Given the description of an element on the screen output the (x, y) to click on. 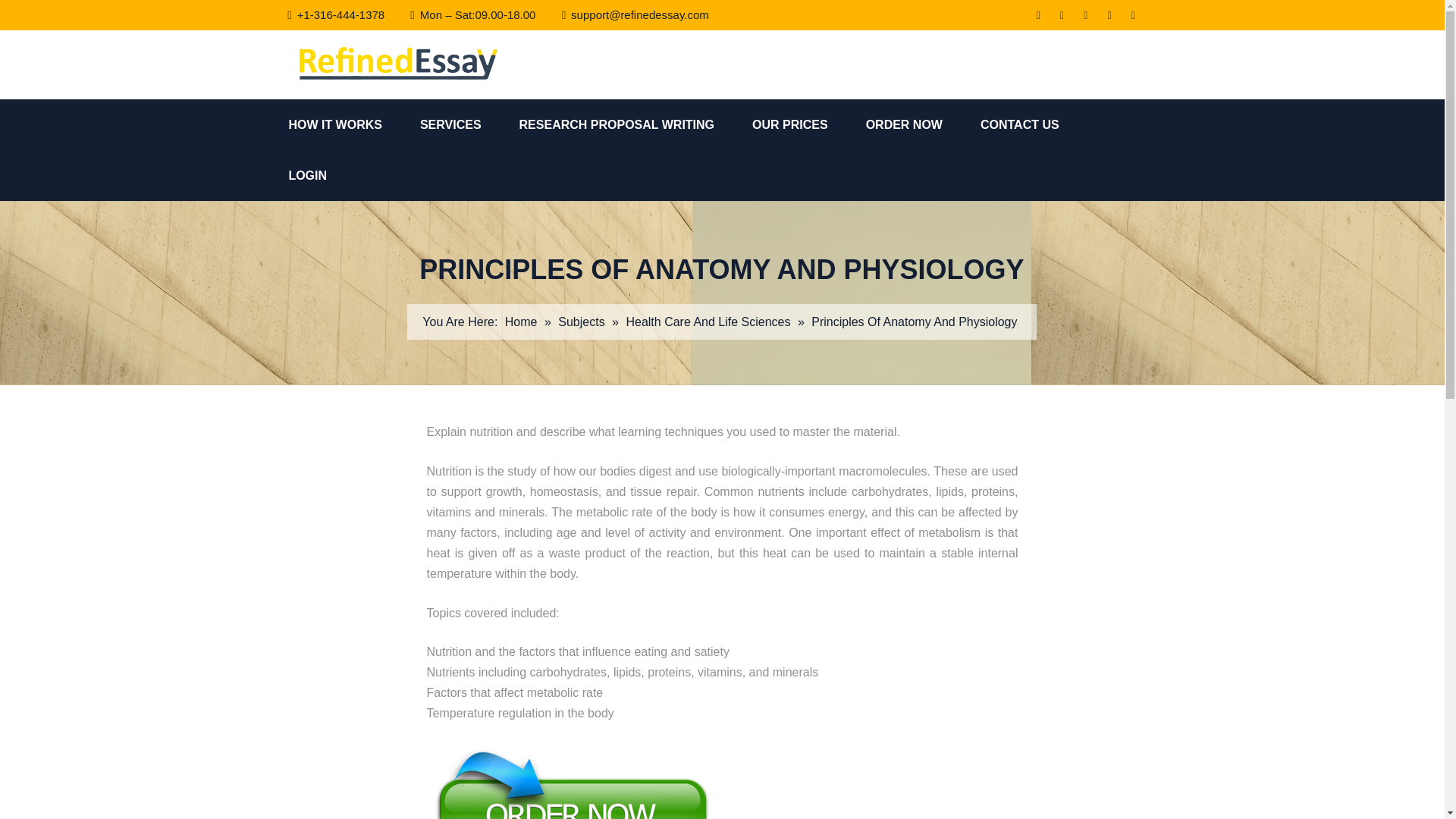
ORDER NOW (922, 124)
CONTACT US (1038, 124)
Home (521, 321)
Health Care And Life Sciences (708, 321)
HOW IT WORKS (354, 124)
Subjects (580, 321)
LOGIN (326, 174)
SERVICES (469, 124)
RESEARCH PROPOSAL WRITING (635, 124)
OUR PRICES (809, 124)
